Given the description of an element on the screen output the (x, y) to click on. 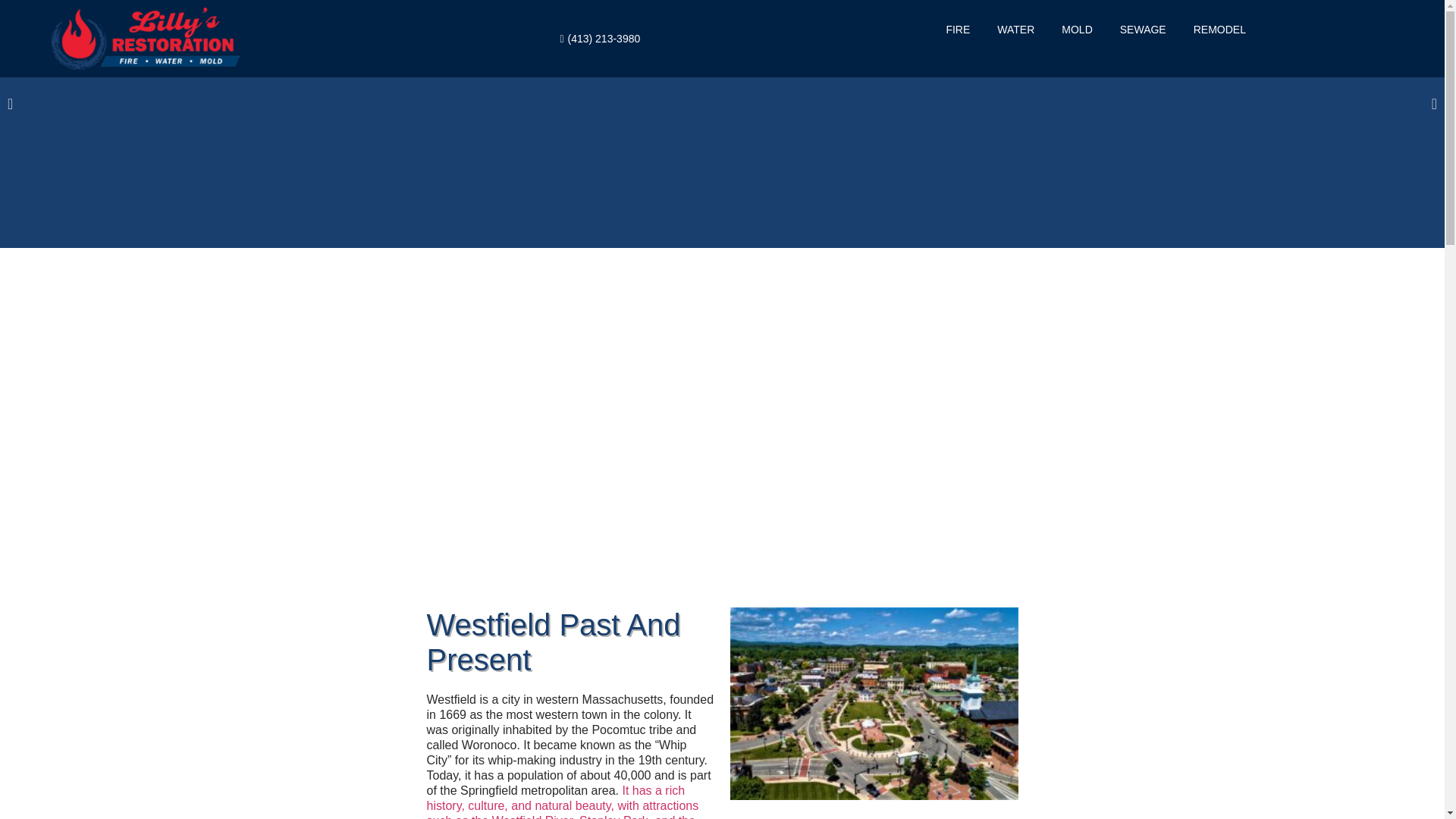
SEWAGE (1142, 29)
FIRE (956, 29)
WATER (1015, 29)
REMODEL (1219, 29)
MOLD (1076, 29)
